Given the description of an element on the screen output the (x, y) to click on. 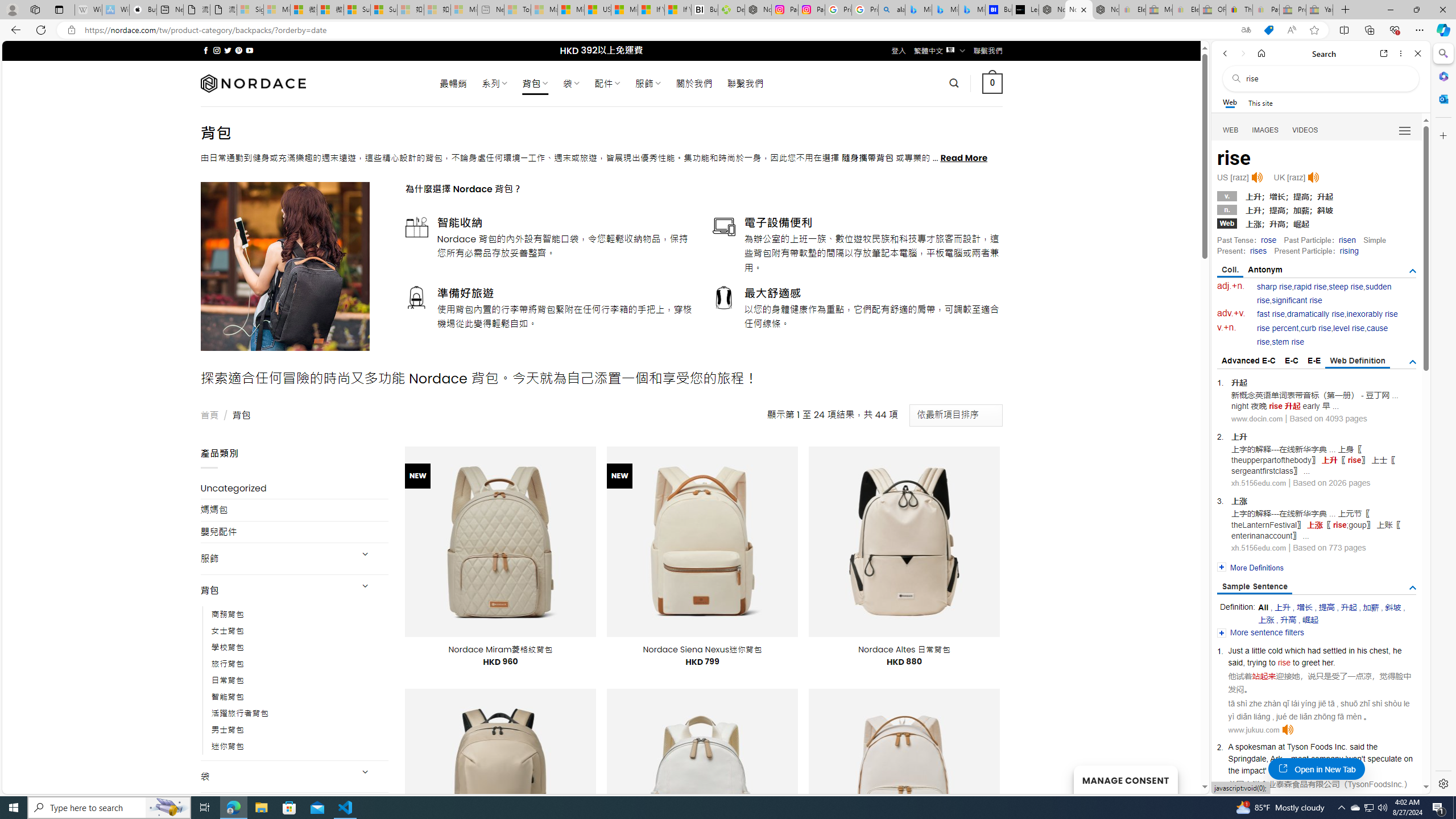
spokesman (1255, 746)
speculate (1384, 758)
her (1327, 662)
said (1356, 746)
rise (1309, 770)
Descarga Driver Updater (731, 9)
, (1267, 758)
